Given the description of an element on the screen output the (x, y) to click on. 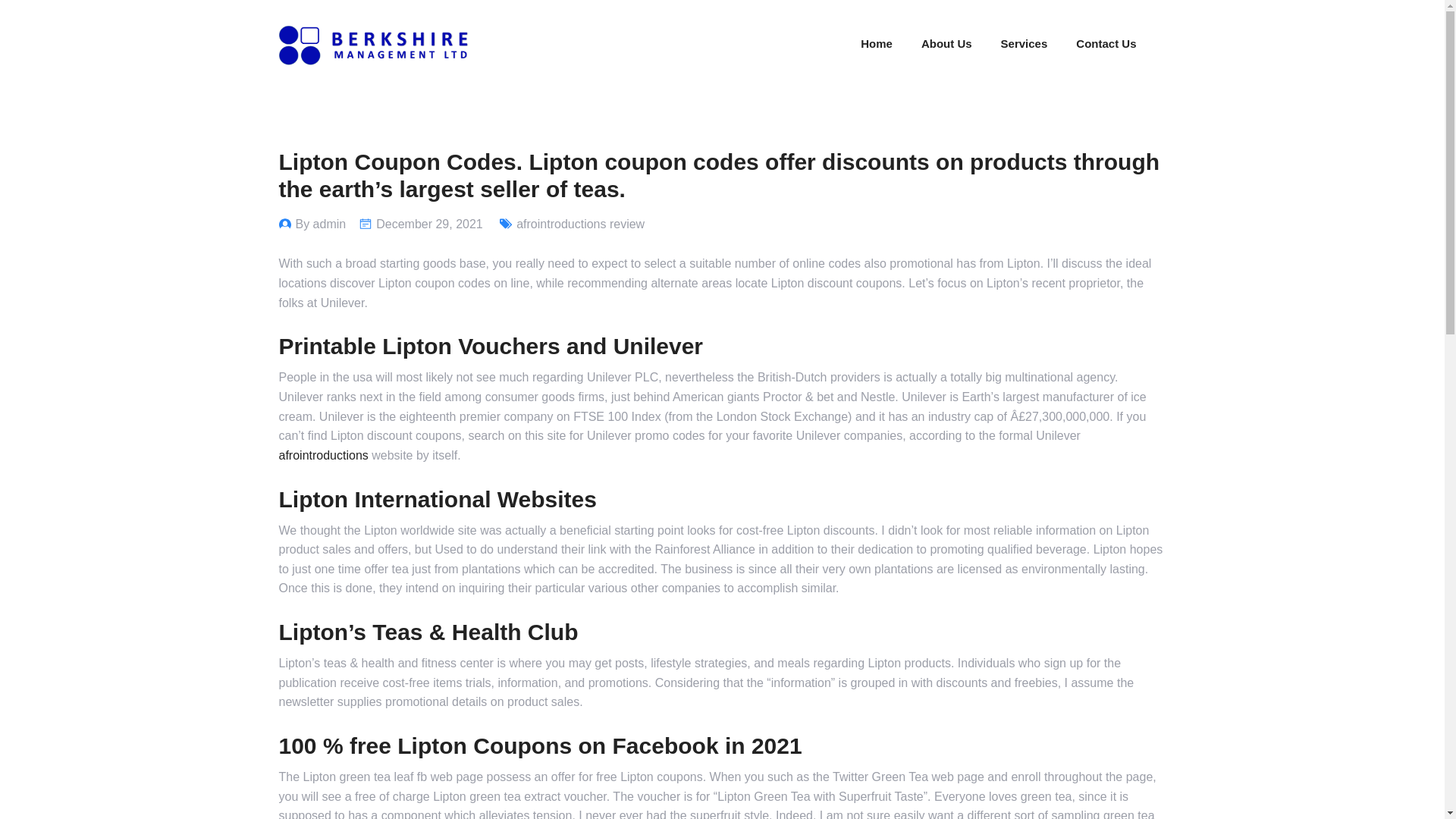
About Us (946, 42)
afrointroductions review (1005, 43)
Contact Us (580, 223)
By admin (1105, 42)
December 29, 2021 (320, 223)
Home (429, 223)
afrointroductions (876, 42)
Services (323, 454)
